Given the description of an element on the screen output the (x, y) to click on. 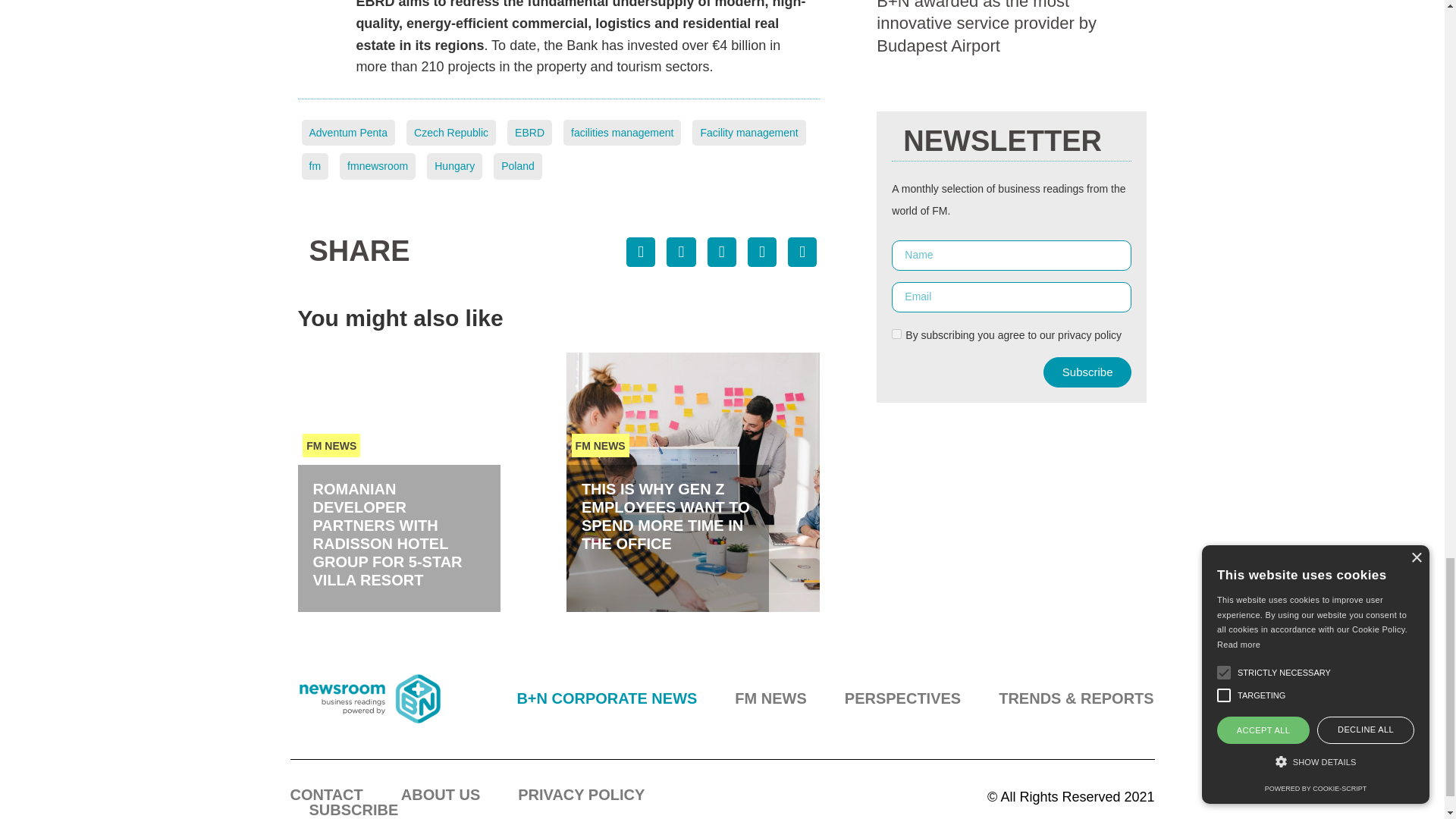
facilities management (622, 132)
on (896, 334)
Facility management (749, 132)
fmnewsroom (376, 166)
EBRD (528, 132)
Adventum Penta (348, 132)
FM NEWS (600, 445)
Czech Republic (451, 132)
Poland (517, 166)
FM NEWS (330, 445)
Hungary (453, 166)
fm (315, 166)
